Given the description of an element on the screen output the (x, y) to click on. 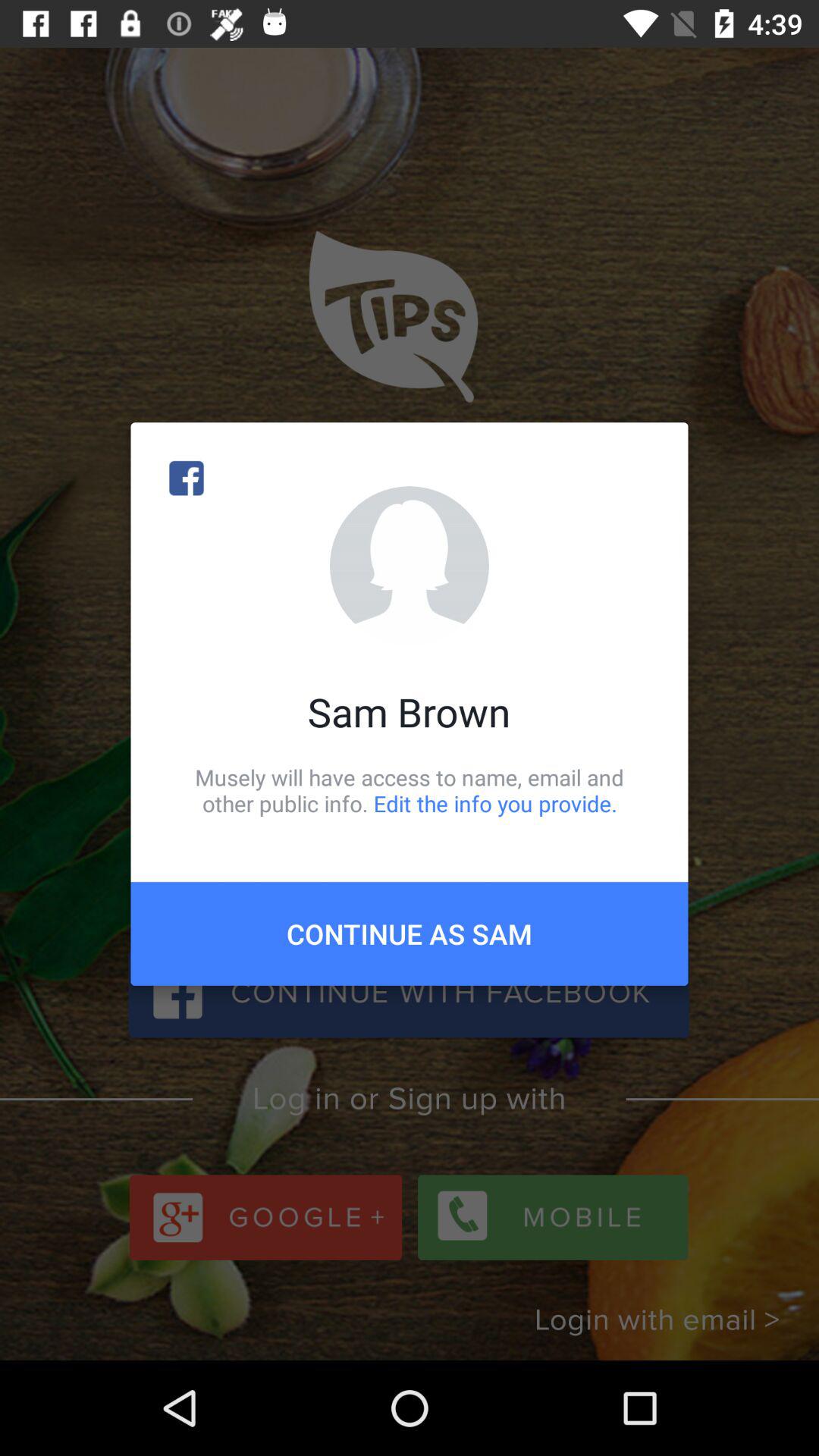
turn on icon below musely will have item (409, 933)
